Given the description of an element on the screen output the (x, y) to click on. 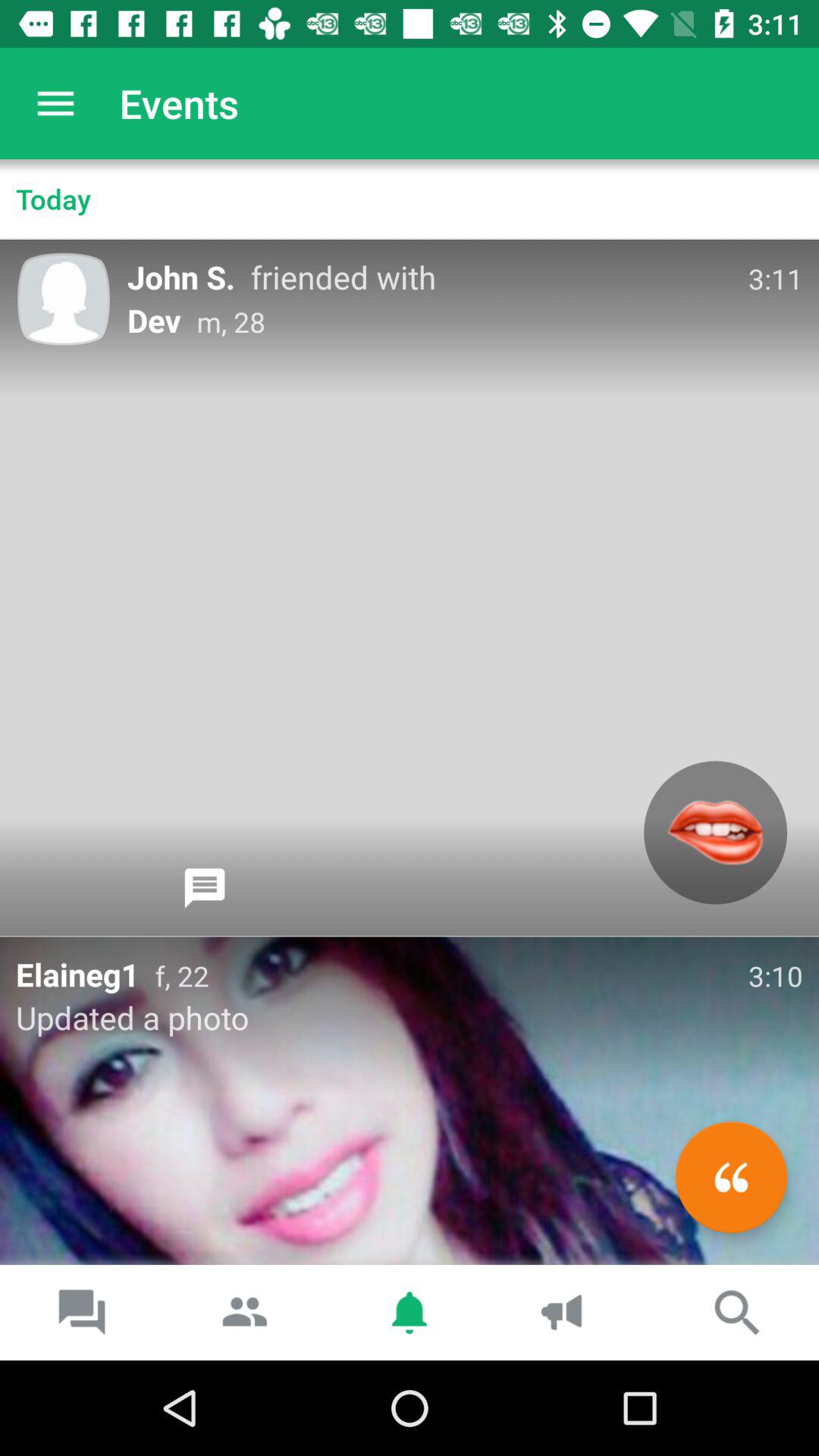
tap the icon on the right (715, 832)
